Given the description of an element on the screen output the (x, y) to click on. 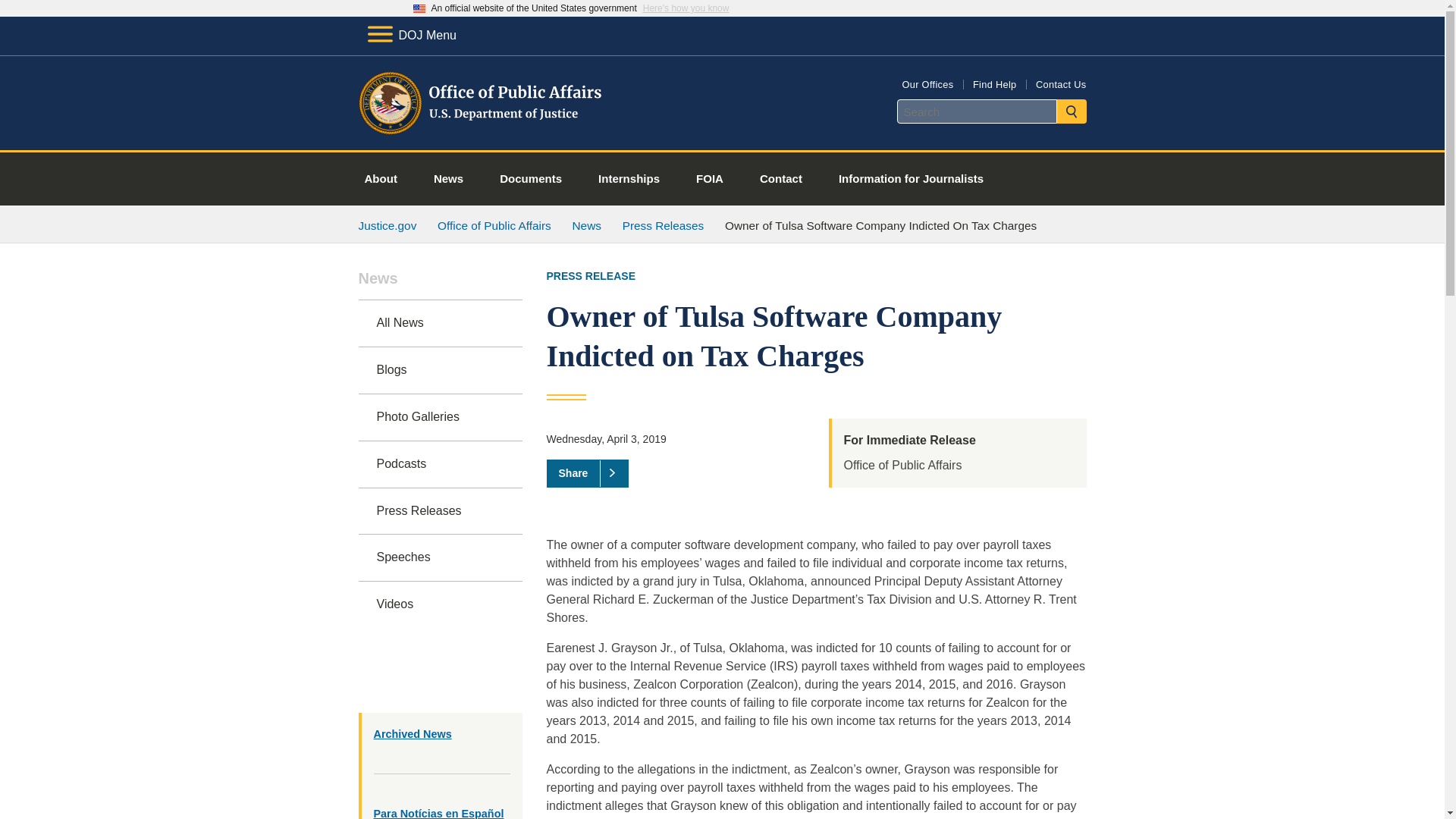
Contact Us (1060, 84)
Photo Galleries (439, 416)
News (447, 179)
Our Offices (927, 84)
Documents (530, 179)
News (439, 285)
Internships (628, 179)
News (586, 225)
DOJ Menu (411, 35)
FOIA (709, 179)
